Given the description of an element on the screen output the (x, y) to click on. 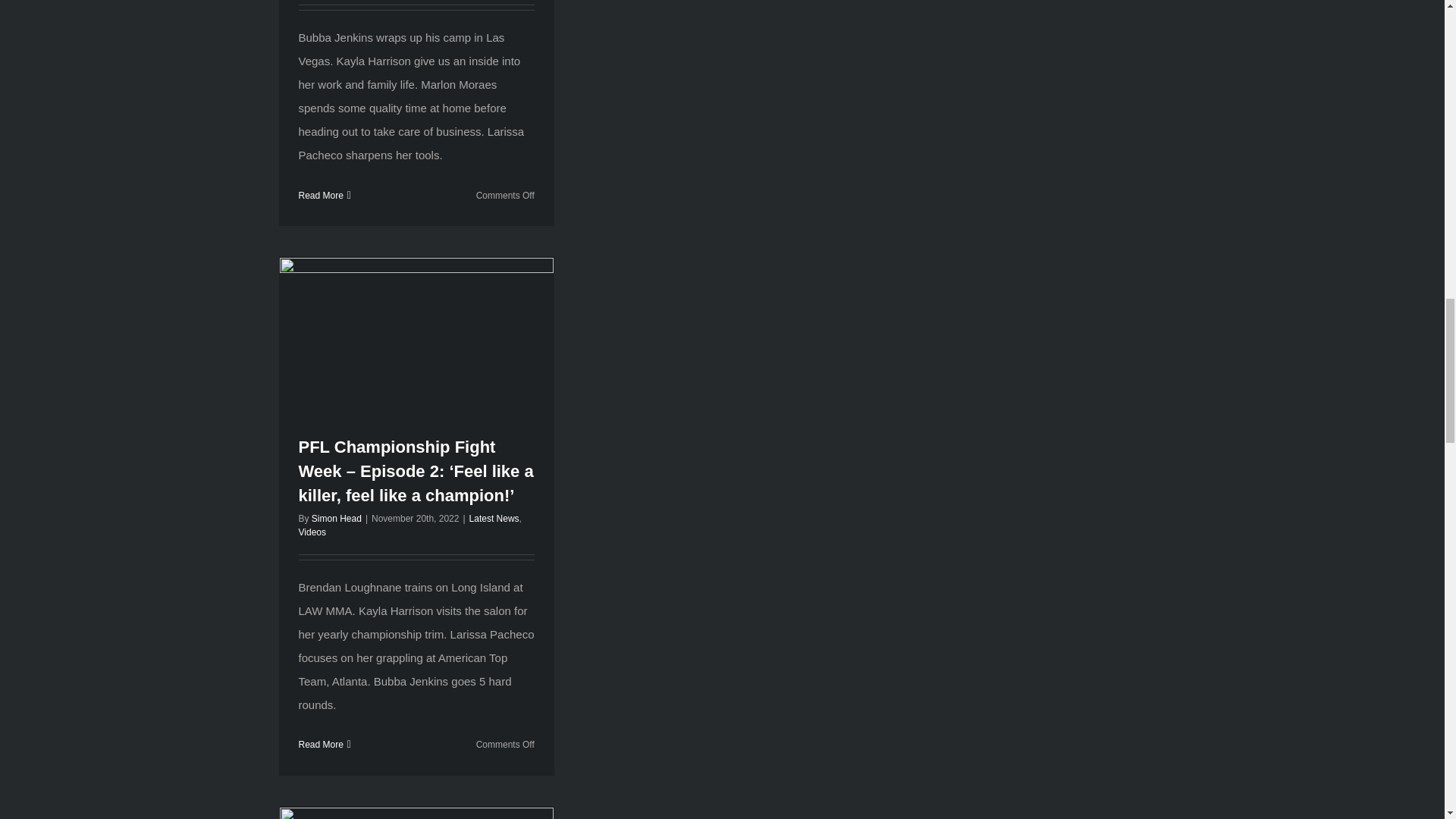
Videos (312, 532)
Read More (320, 194)
Latest News (493, 518)
Read More (320, 744)
Posts by Simon Head (336, 518)
Simon Head (336, 518)
